Given the description of an element on the screen output the (x, y) to click on. 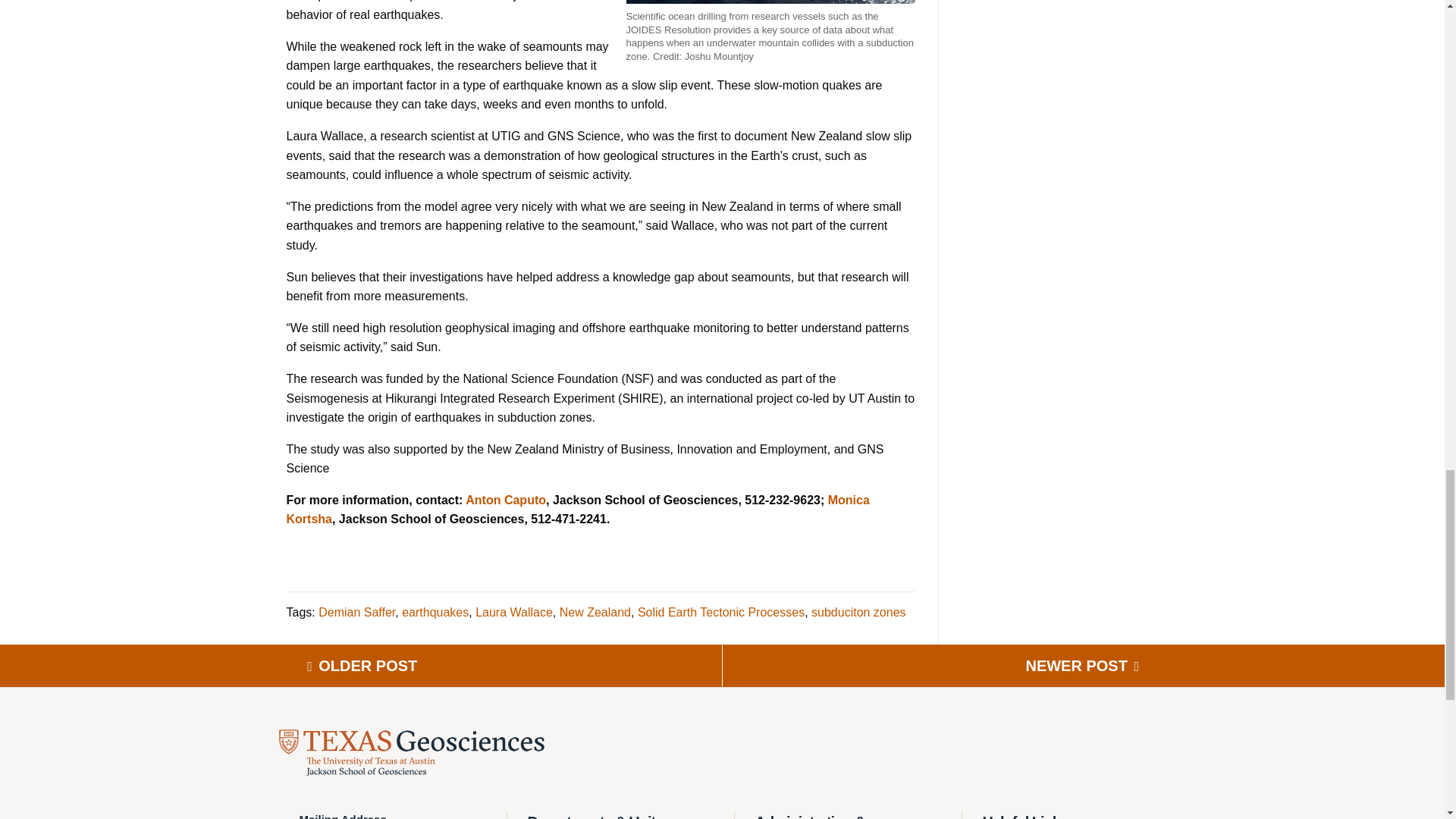
Jackson School of Geosciences (411, 752)
